Given the description of an element on the screen output the (x, y) to click on. 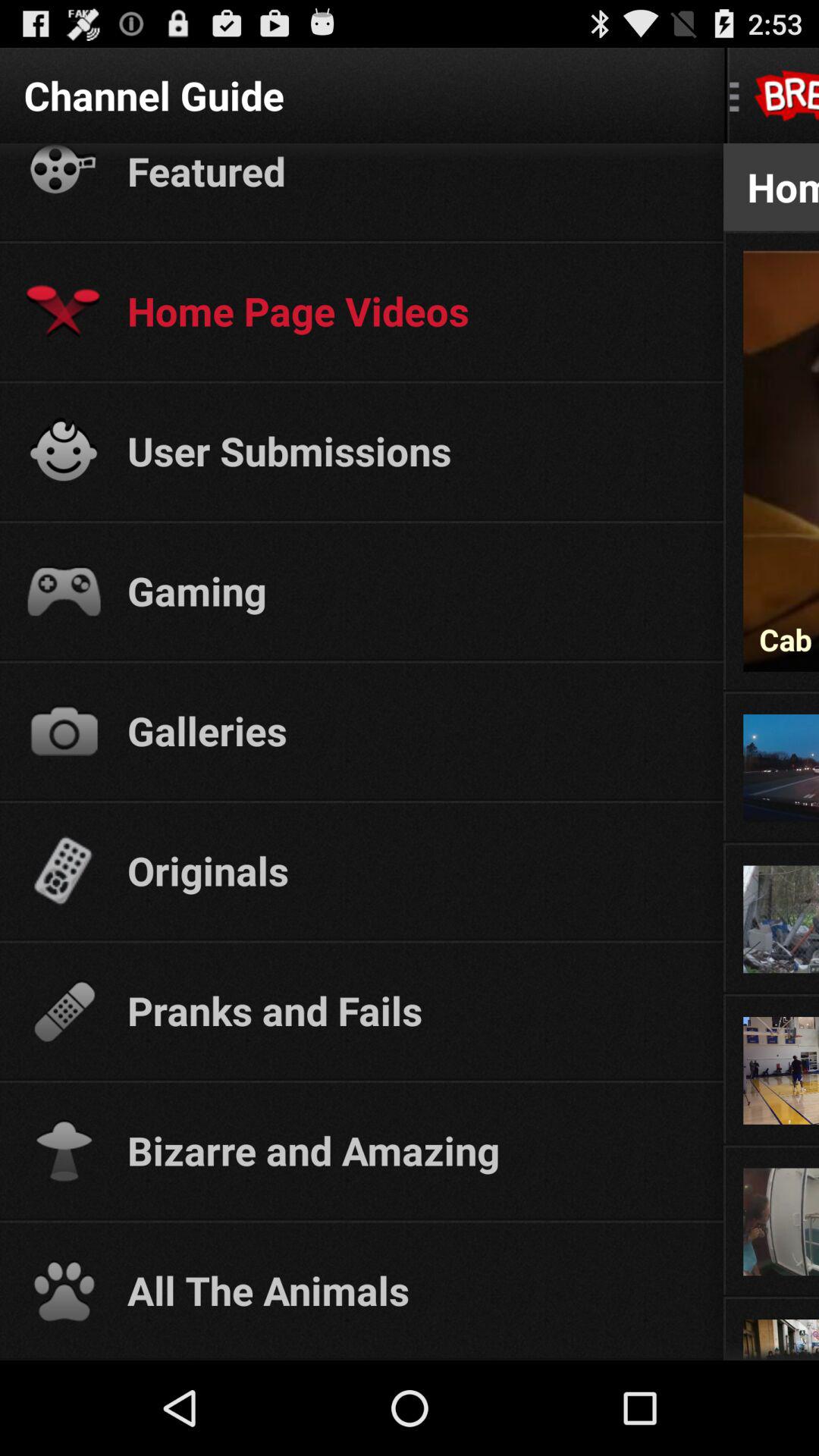
turn on app to the right of bizarre and amazing app (771, 1146)
